Given the description of an element on the screen output the (x, y) to click on. 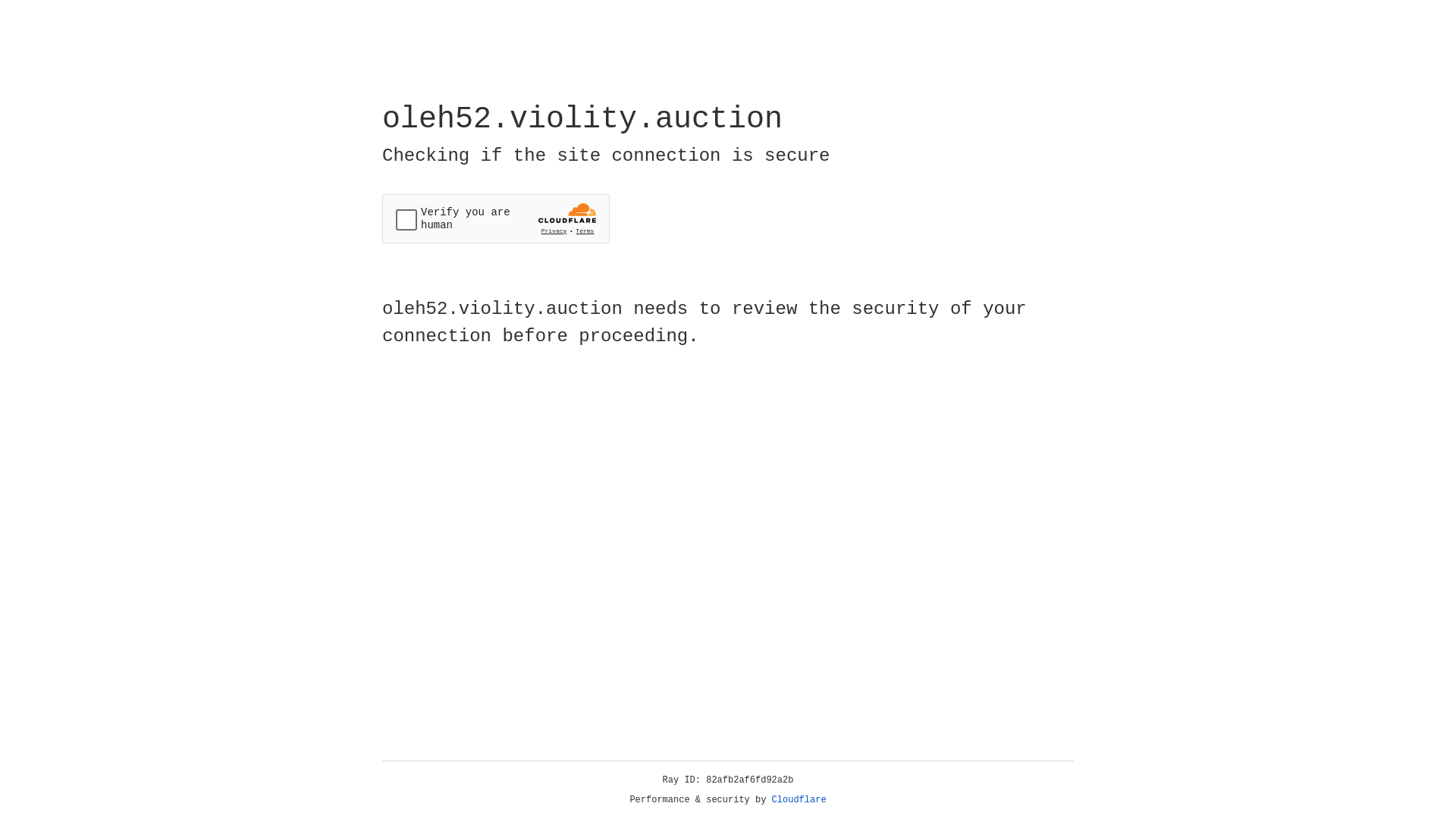
Widget containing a Cloudflare security challenge Element type: hover (495, 218)
Cloudflare Element type: text (798, 799)
